Given the description of an element on the screen output the (x, y) to click on. 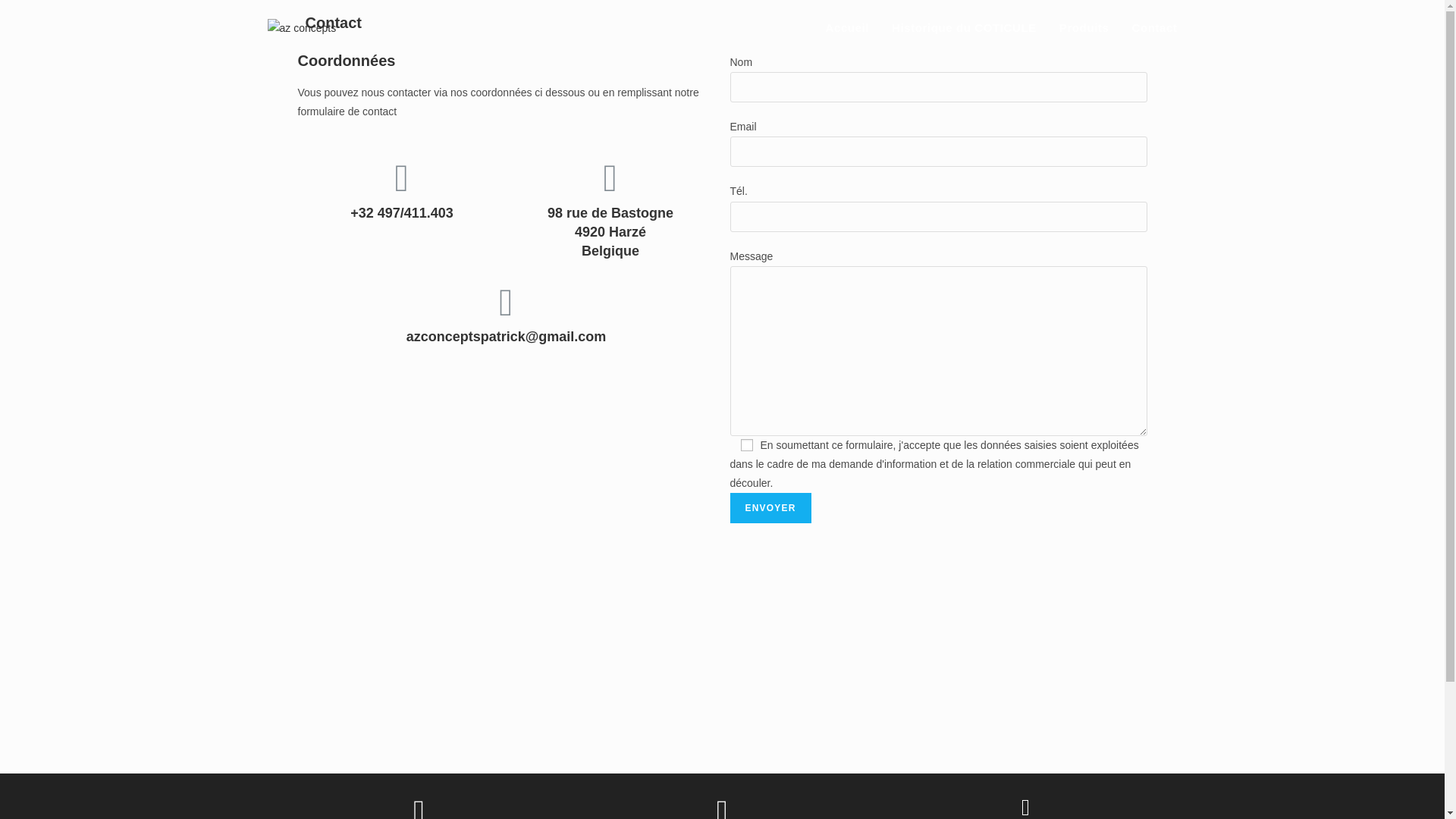
Produits Element type: text (1084, 28)
AZ concepts Element type: hover (721, 659)
Historique du COTICULE Element type: text (964, 28)
Contact Element type: text (1154, 28)
Accueil Element type: text (847, 28)
Envoyer Element type: text (769, 507)
